Given the description of an element on the screen output the (x, y) to click on. 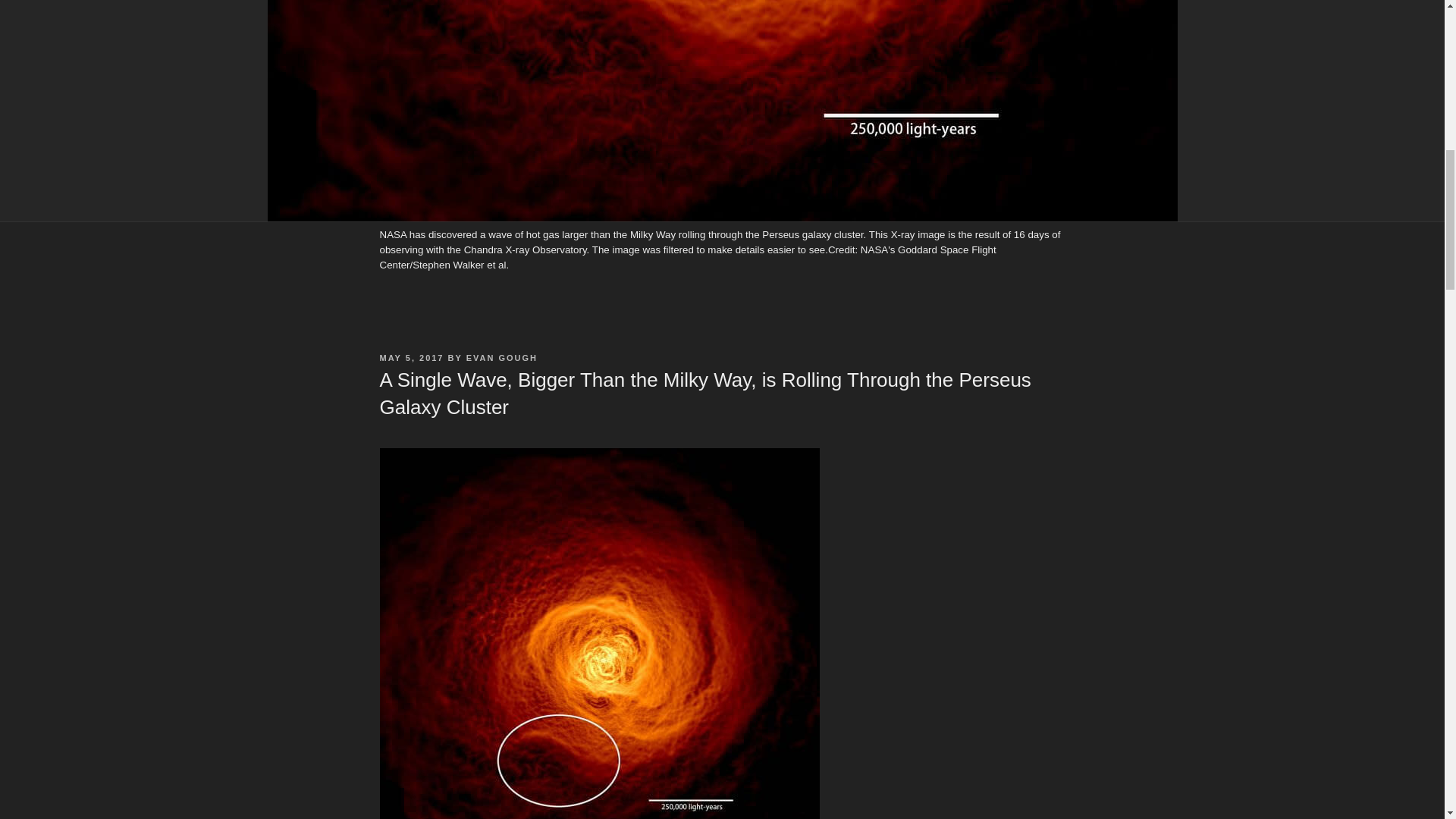
MAY 5, 2017 (411, 357)
EVAN GOUGH (501, 357)
